Given the description of an element on the screen output the (x, y) to click on. 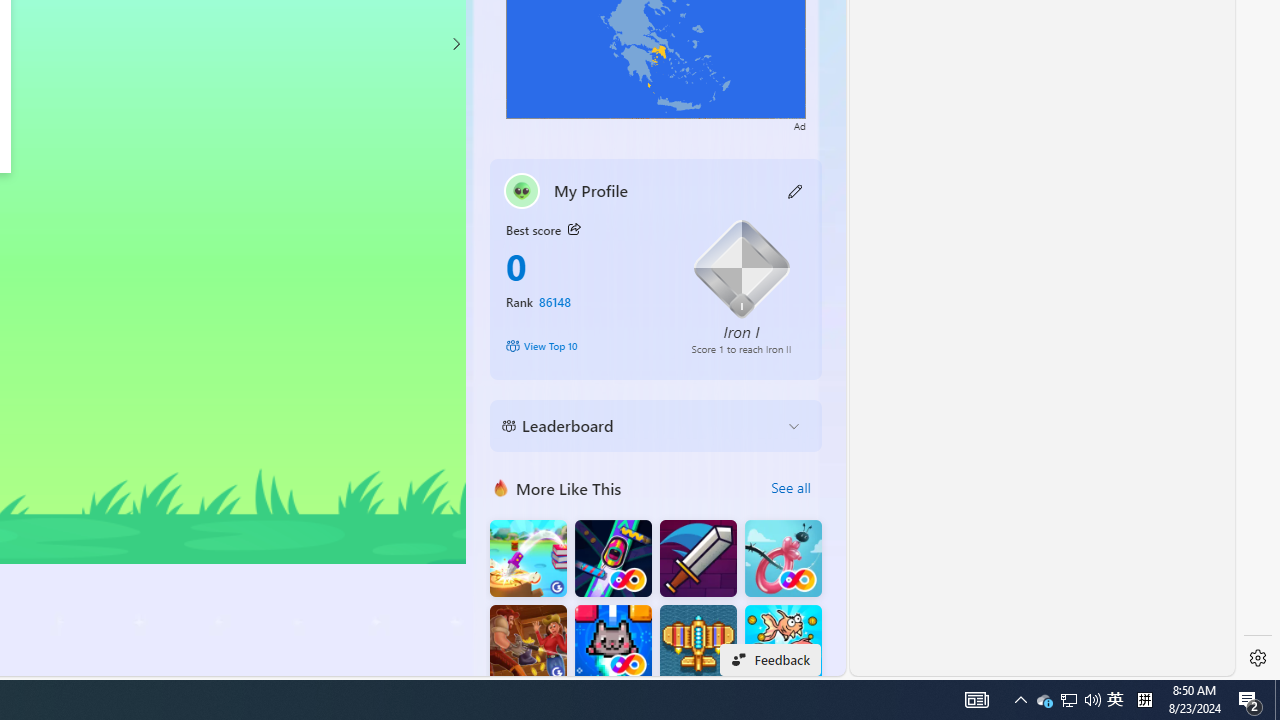
Balloon FRVR (783, 558)
Leaderboard (639, 425)
Atlantic Sky Hunter (698, 643)
